Given the description of an element on the screen output the (x, y) to click on. 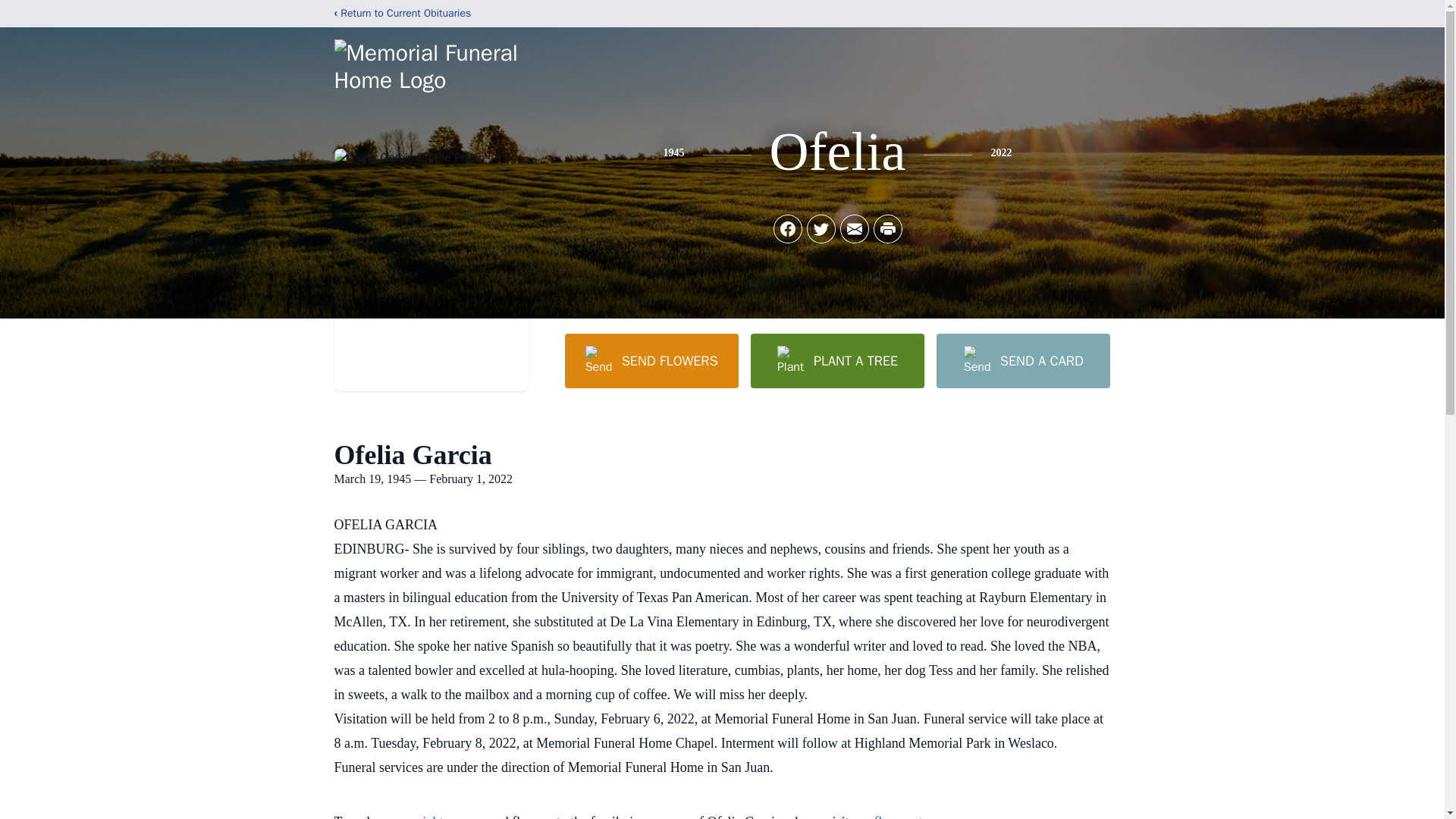
SEND FLOWERS (651, 360)
PLANT A TREE (837, 360)
SEND A CARD (1022, 360)
memorial trees (424, 816)
flower store (907, 816)
